Given the description of an element on the screen output the (x, y) to click on. 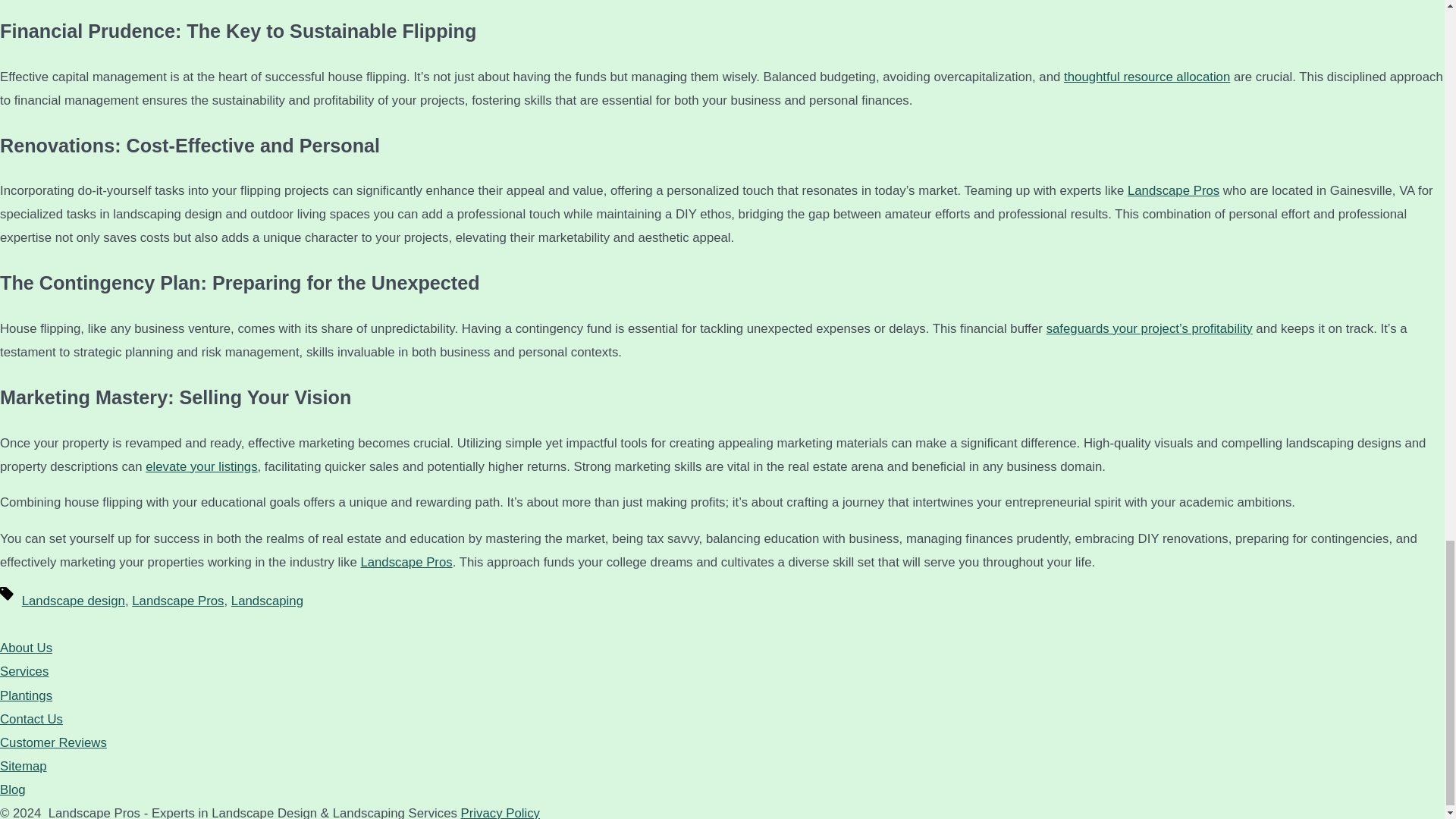
thoughtful resource allocation (1147, 76)
Landscape Pros (405, 562)
Landscape Pros (1173, 190)
Landscape design (73, 600)
Landscape Pros (178, 600)
elevate your listings (201, 466)
Landscaping (266, 600)
